Given the description of an element on the screen output the (x, y) to click on. 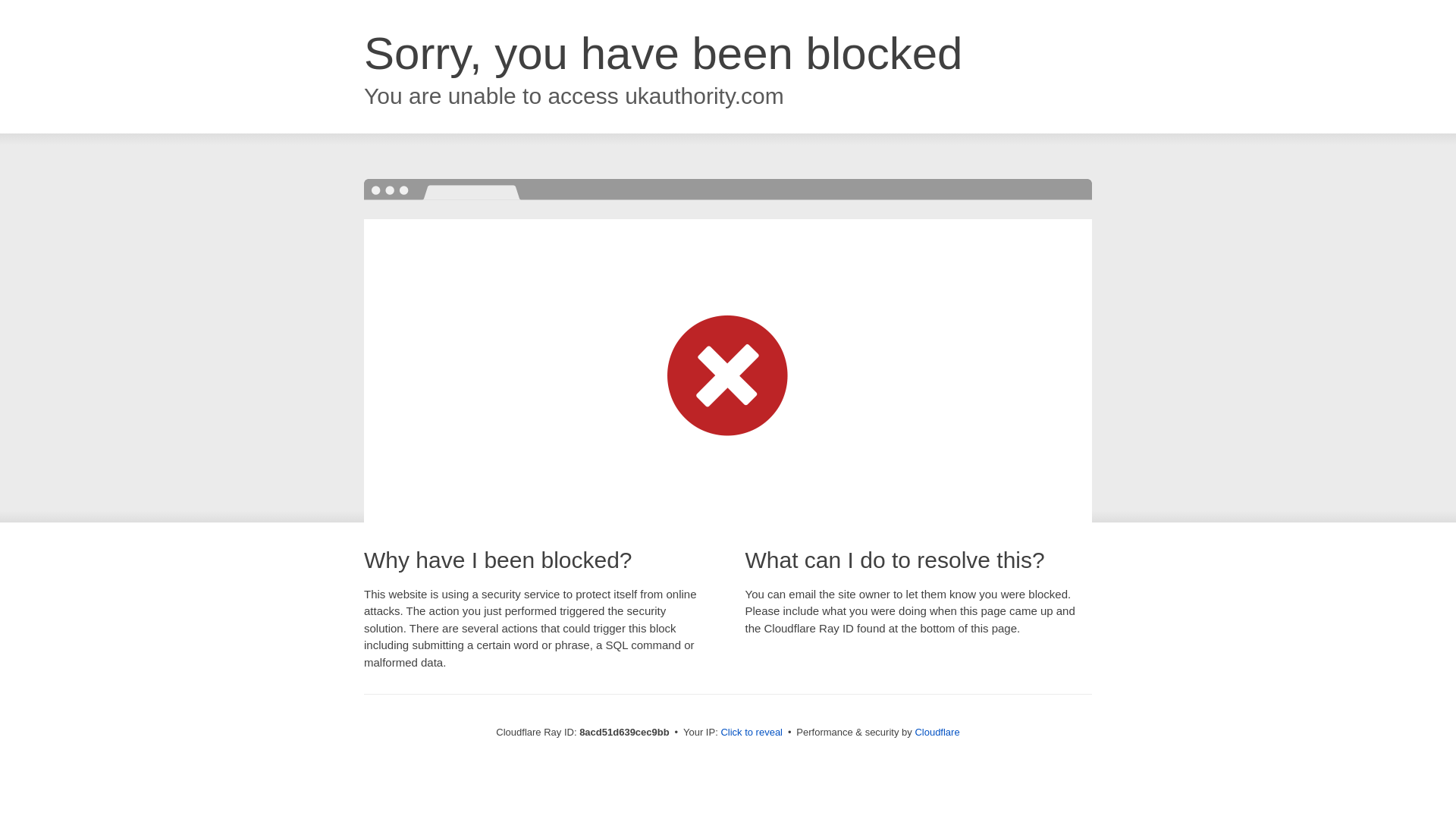
Click to reveal (751, 732)
Cloudflare (936, 731)
